Given the description of an element on the screen output the (x, y) to click on. 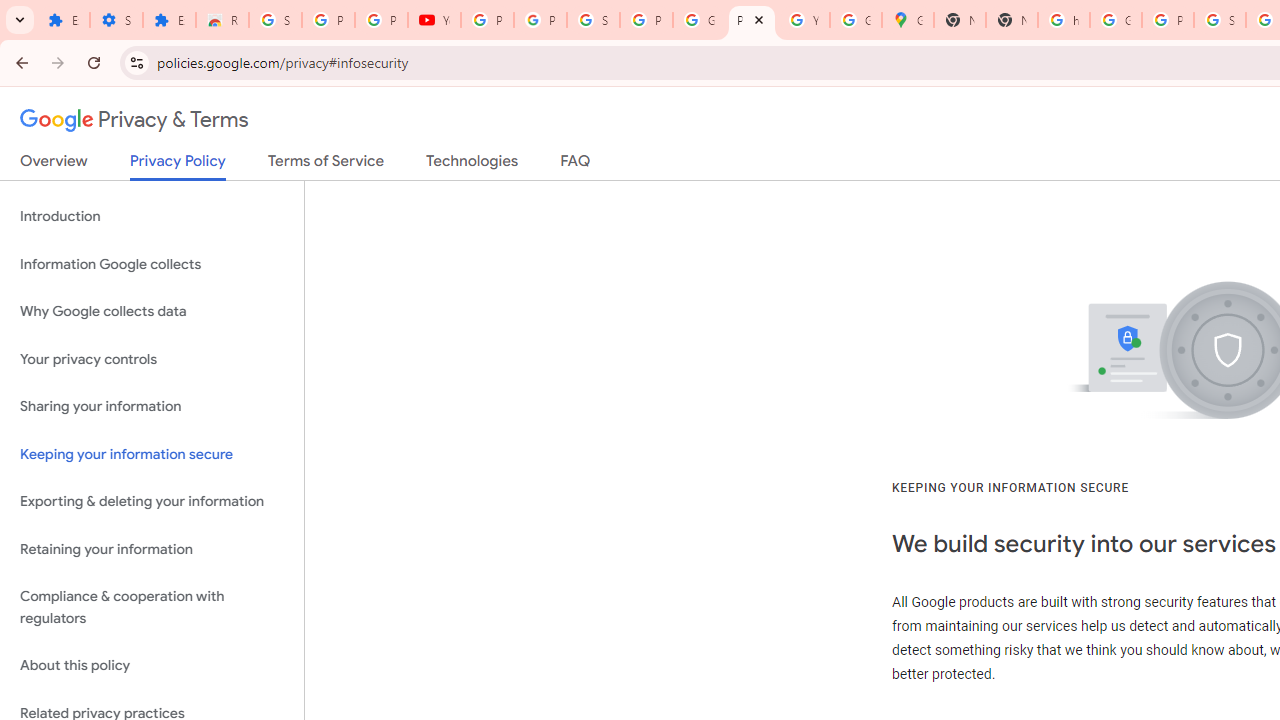
Extensions (169, 20)
